Given the description of an element on the screen output the (x, y) to click on. 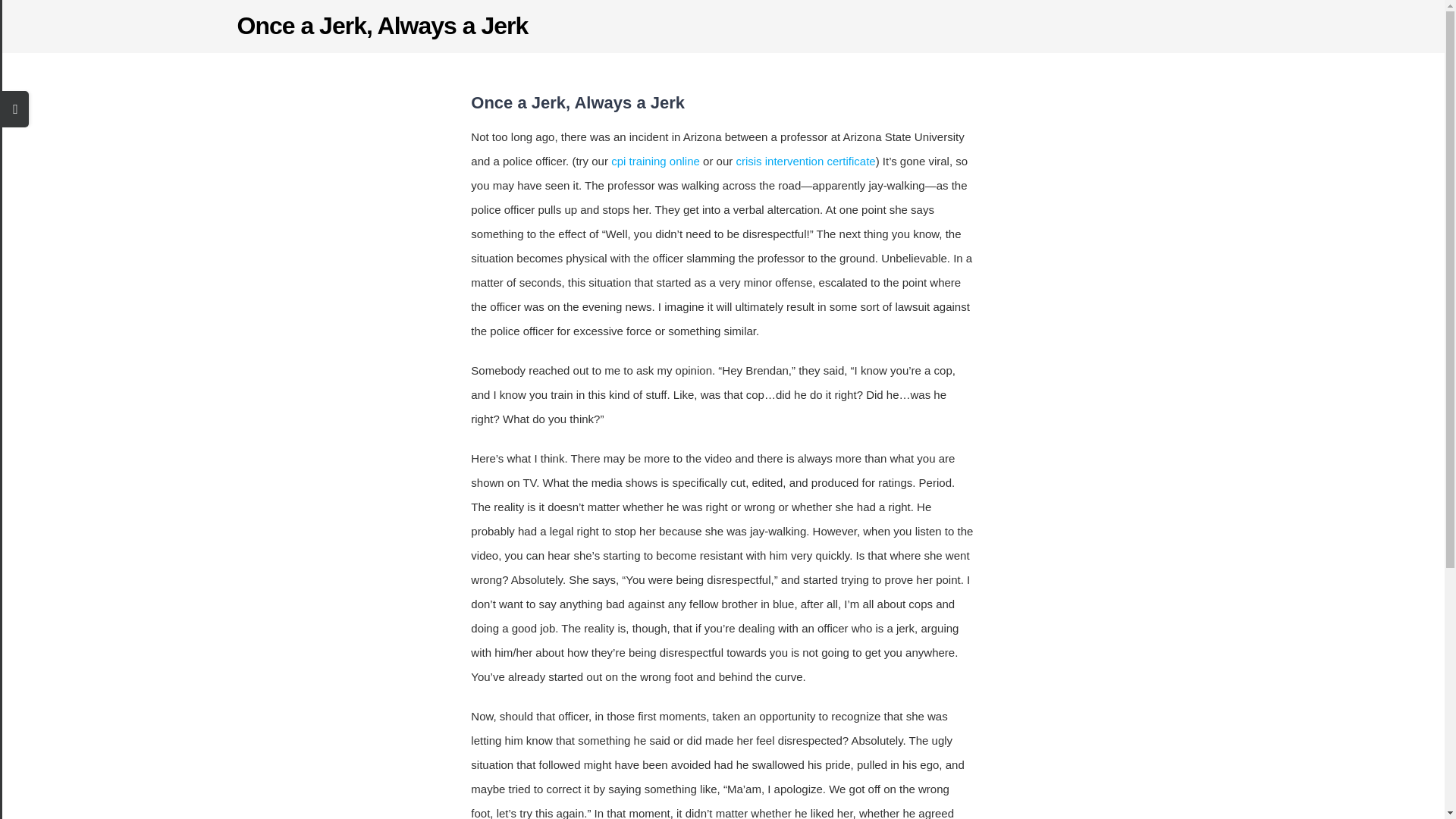
Toggle Sliding Bar Area (15, 108)
crisis intervention certificate (805, 160)
cpi training online (655, 160)
